Given the description of an element on the screen output the (x, y) to click on. 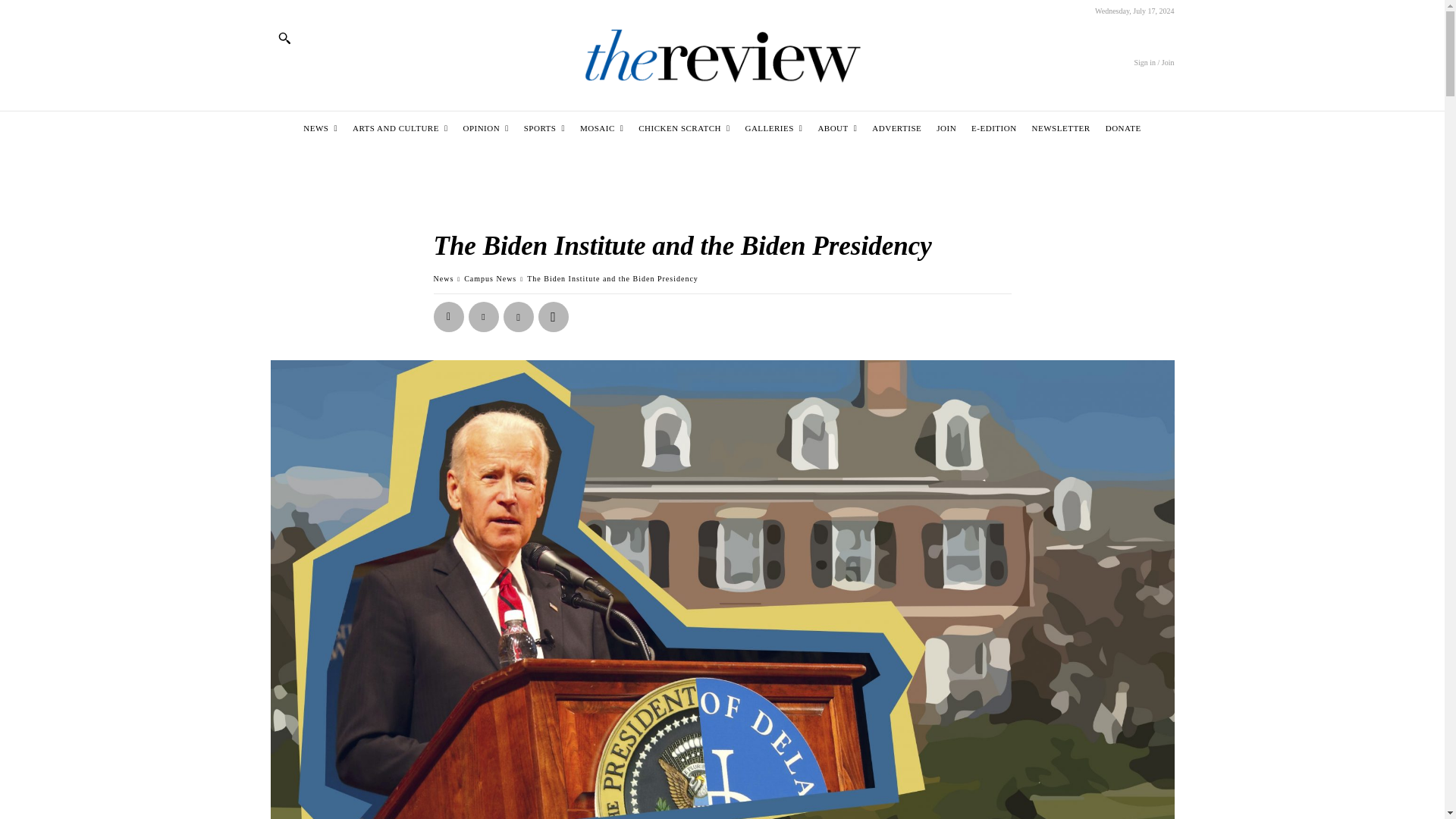
Pinterest (518, 317)
View all posts in News (443, 278)
View all posts in Campus News (490, 278)
WhatsApp (553, 317)
Facebook (448, 317)
Twitter (483, 317)
